Given the description of an element on the screen output the (x, y) to click on. 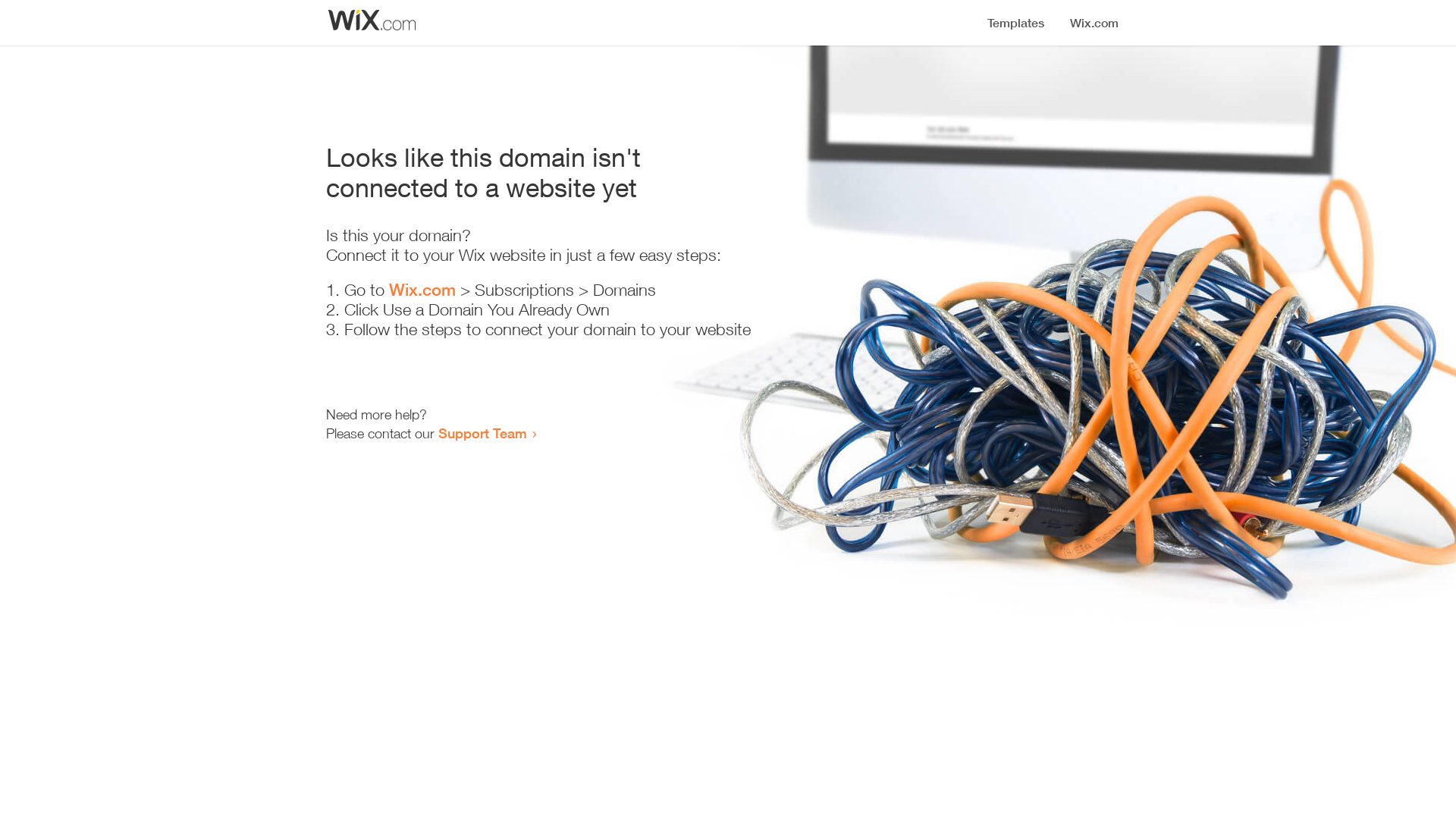
Wix.com Element type: text (422, 289)
Support Team Element type: text (482, 432)
